Given the description of an element on the screen output the (x, y) to click on. 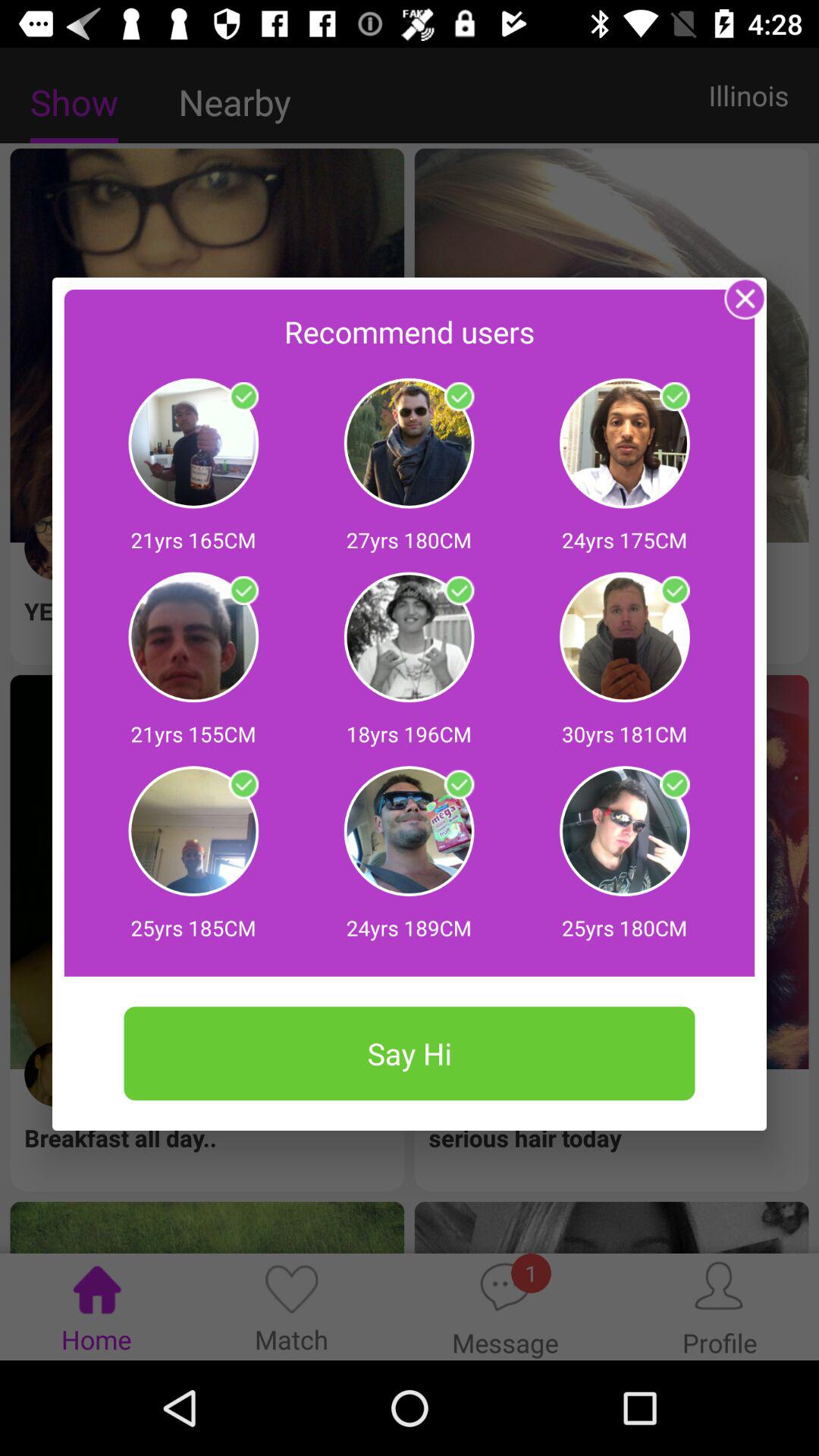
say hi (243, 396)
